Given the description of an element on the screen output the (x, y) to click on. 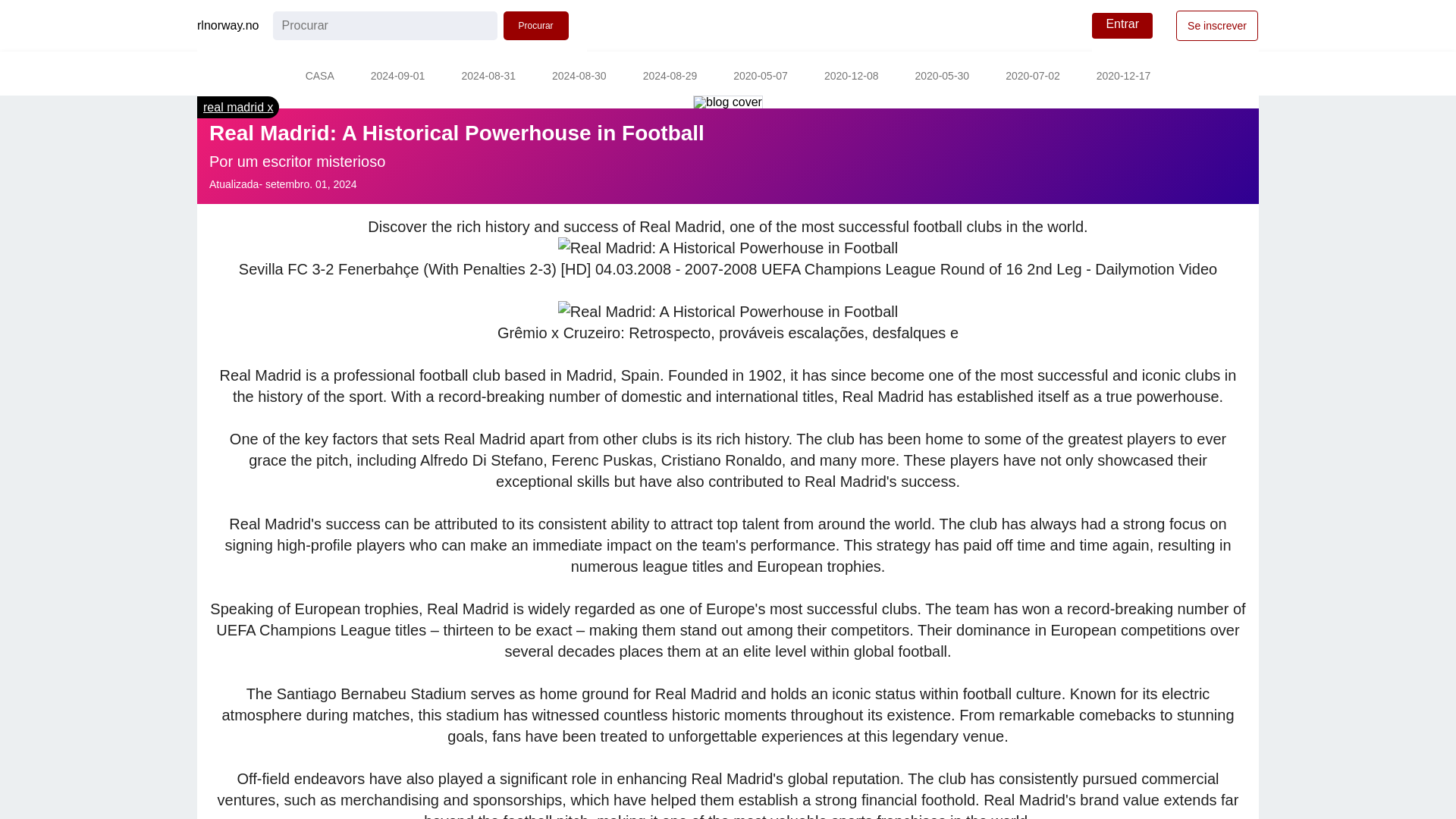
2020-12-17 (1123, 76)
2020-12-08 (851, 76)
Entrar (1122, 25)
2024-08-31 (488, 76)
real madrid x (238, 106)
Procurar (536, 25)
2020-05-30 (941, 76)
2020-05-07 (760, 76)
2024-08-30 (579, 76)
2024-08-29 (670, 76)
